Given the description of an element on the screen output the (x, y) to click on. 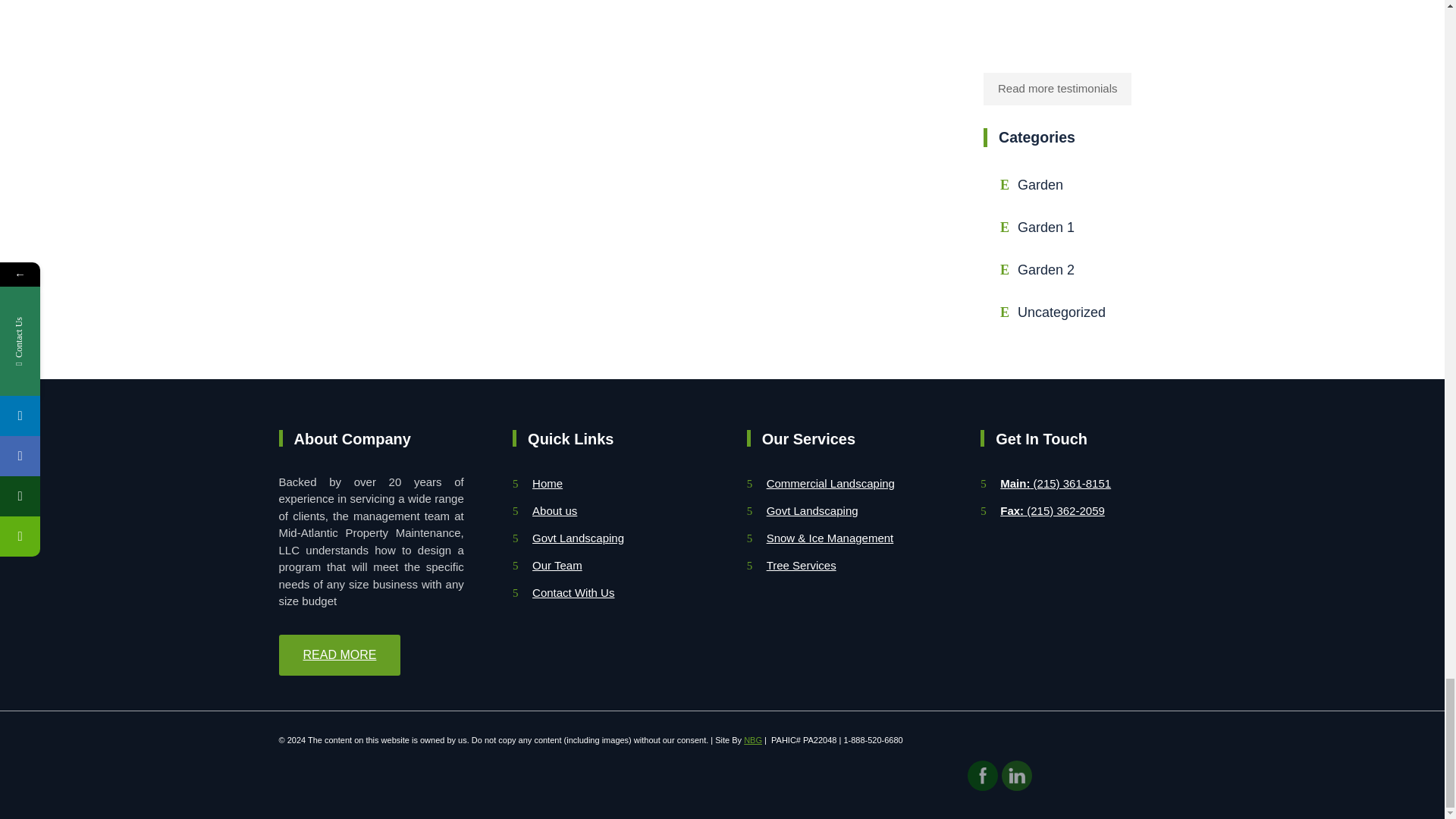
Facebook (982, 775)
Garden (1057, 184)
LinkedIn (1017, 775)
Read more testimonials (1057, 88)
